Given the description of an element on the screen output the (x, y) to click on. 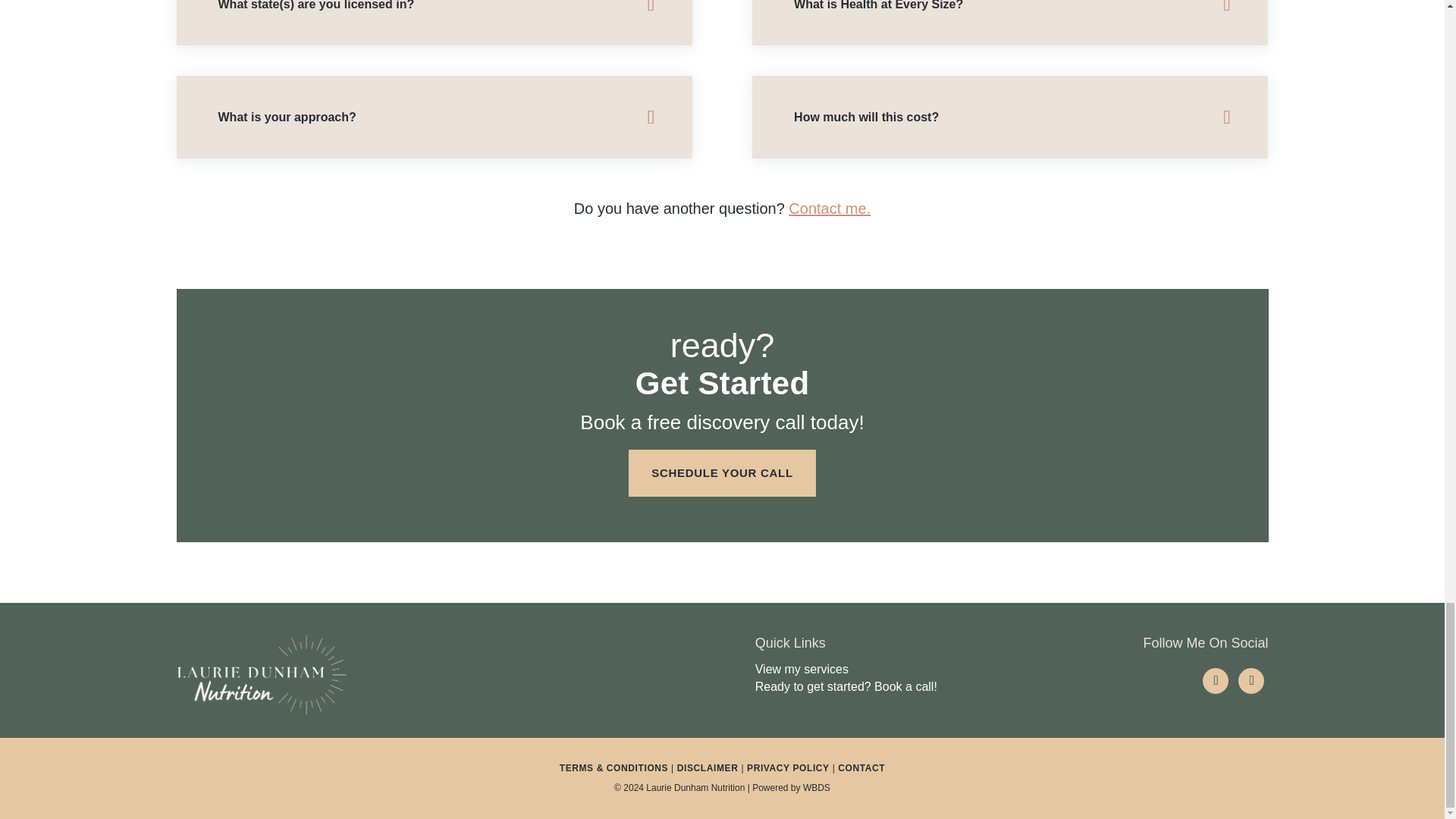
CONTACT (861, 767)
Follow on LinkedIn (1215, 680)
PRIVACY POLICY (787, 767)
View my services (801, 668)
DISCLAIMER (707, 767)
Ready to get started? Book a call! (846, 686)
Follow on Facebook (1251, 680)
Powered by WBDS (790, 787)
Contact me. (829, 208)
SCHEDULE YOUR CALL (721, 472)
